Given the description of an element on the screen output the (x, y) to click on. 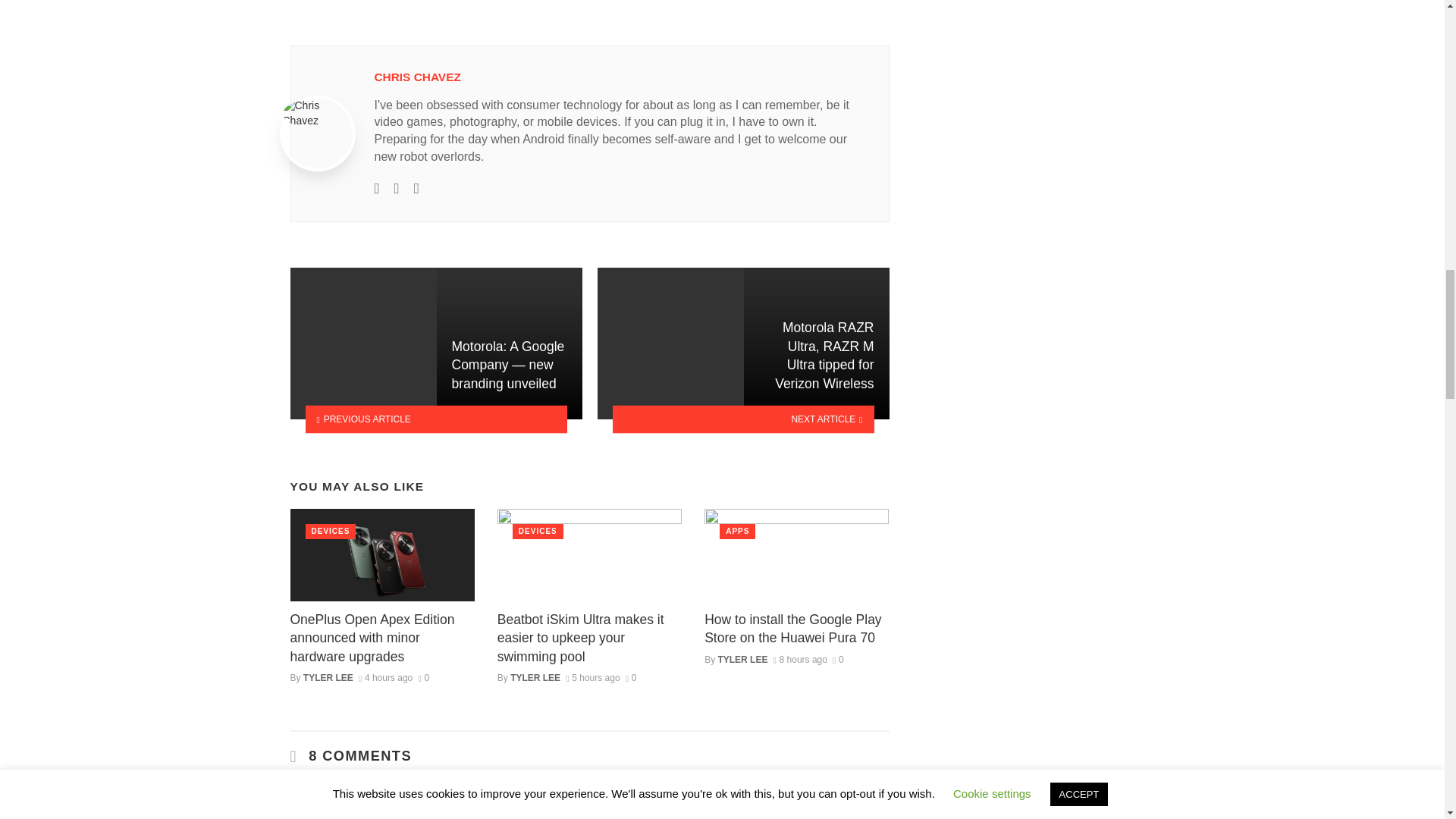
CHRIS CHAVEZ (417, 76)
Posts by Chris Chavez (417, 76)
0 Comments (423, 677)
August 1, 2024 at 10:13 am (593, 677)
0 Comments (631, 677)
August 1, 2024 at 11:07 am (385, 677)
